Given the description of an element on the screen output the (x, y) to click on. 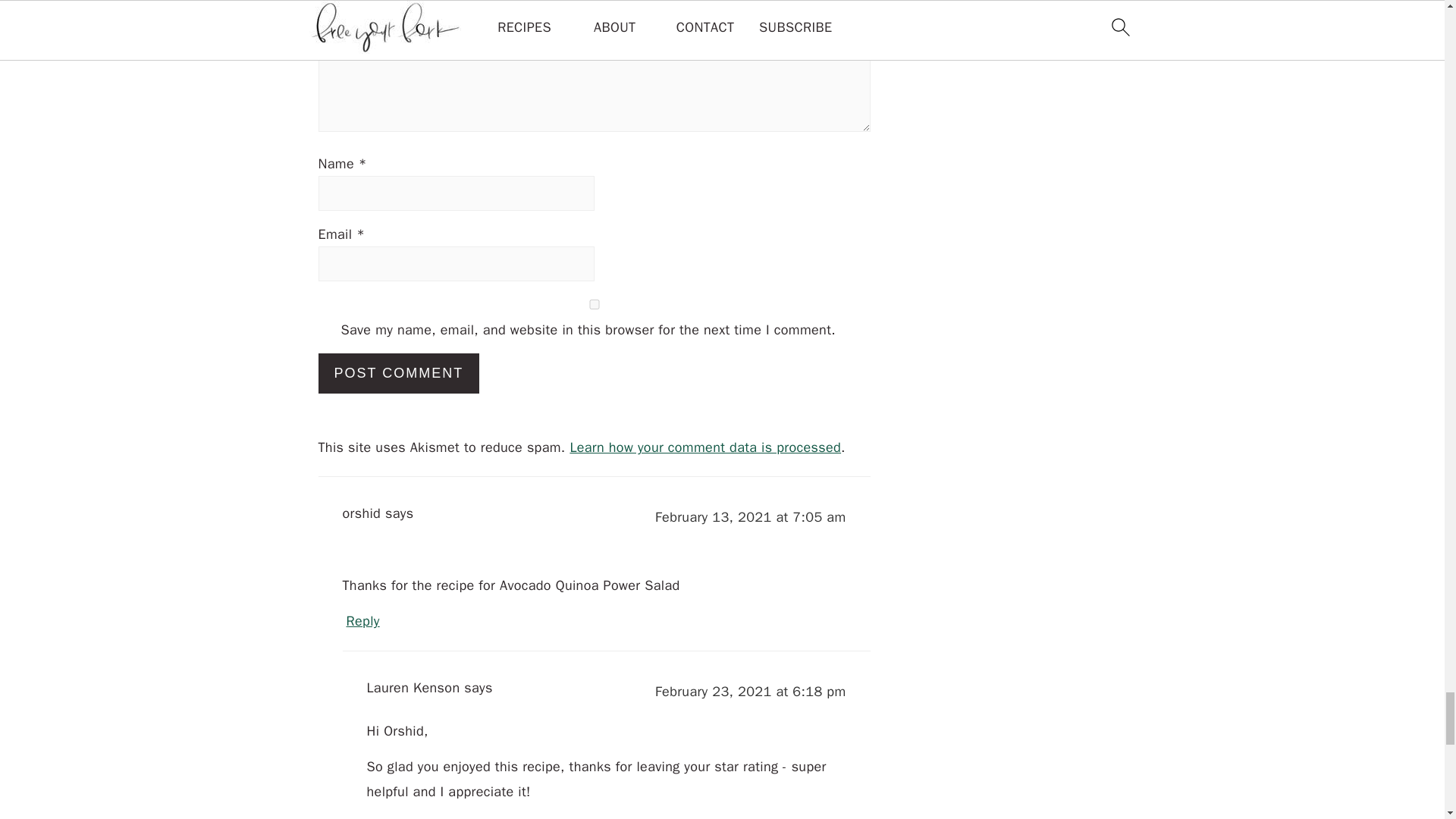
yes (594, 304)
Post Comment (399, 372)
